Given the description of an element on the screen output the (x, y) to click on. 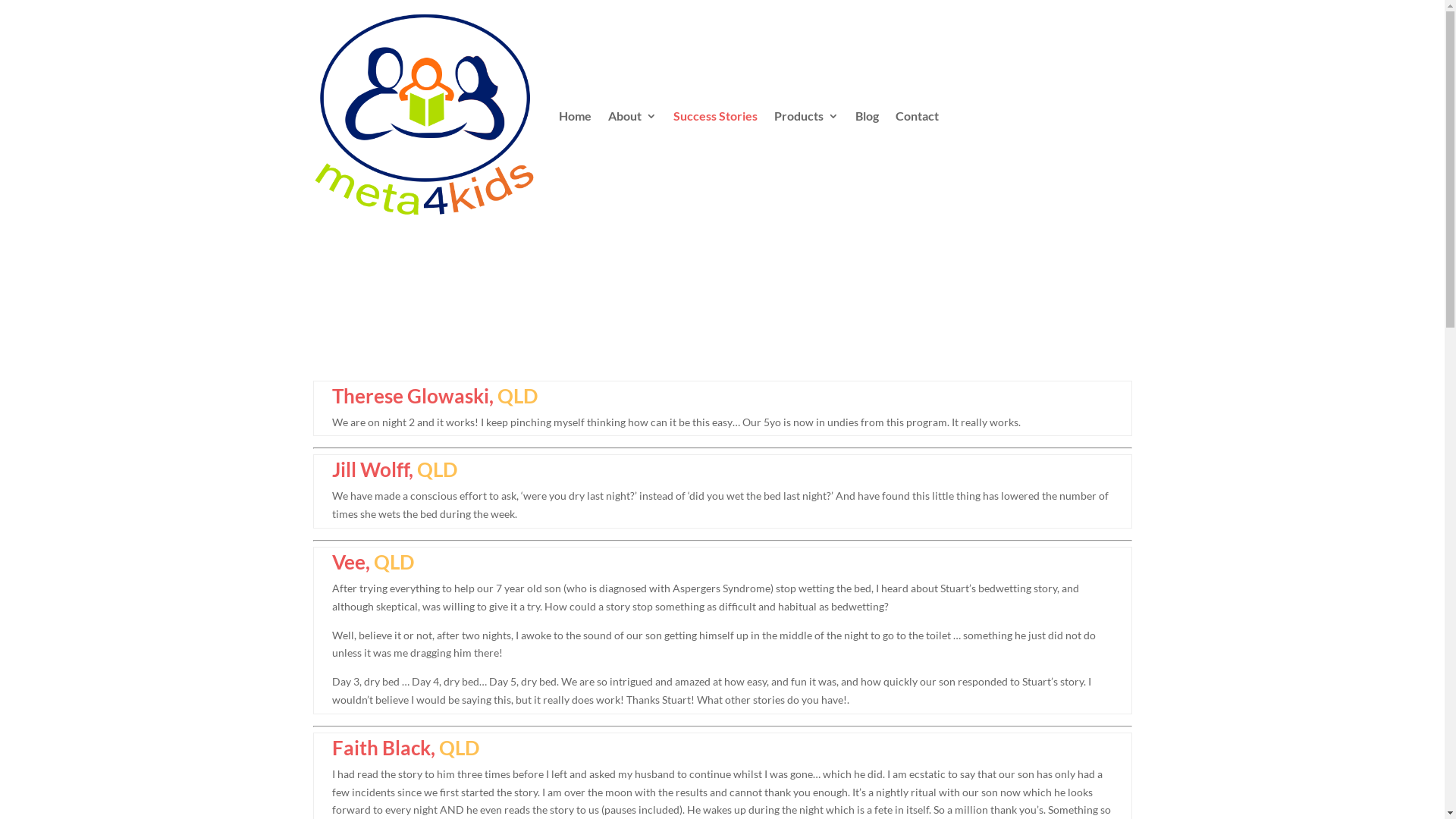
Blog Element type: text (866, 116)
Contact Element type: text (916, 116)
About Element type: text (632, 116)
Products Element type: text (805, 116)
Home Element type: text (574, 116)
Success Stories Element type: text (715, 116)
